Given the description of an element on the screen output the (x, y) to click on. 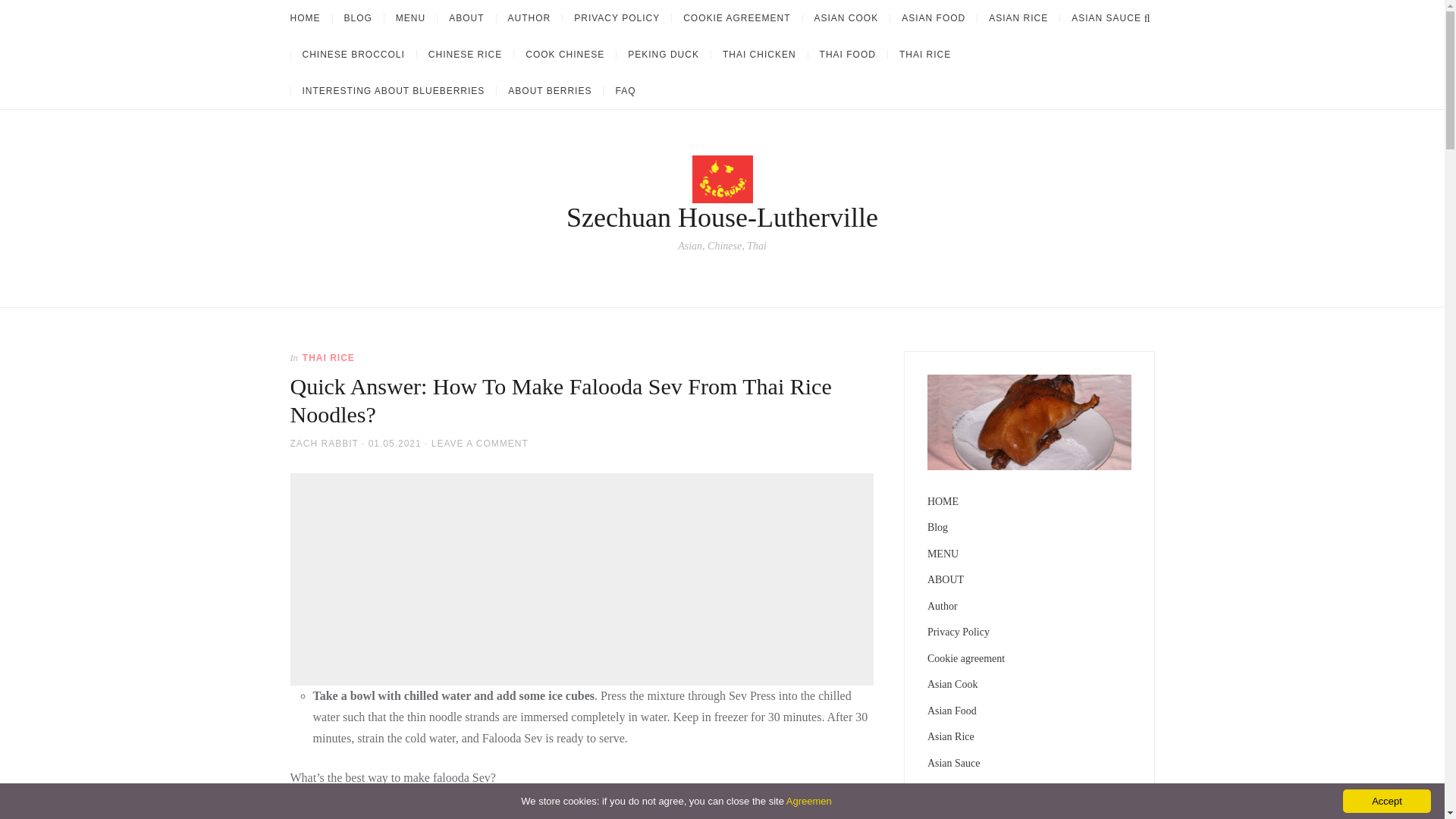
INTERESTING ABOUT BLUEBERRIES (392, 90)
ABOUT (465, 17)
THAI RICE (924, 53)
THAI CHICKEN (759, 53)
ABOUT BERRIES (549, 90)
PEKING DUCK (662, 53)
ASIAN FOOD (932, 17)
AUTHOR (529, 17)
LEAVE A COMMENT (479, 443)
MENU (410, 17)
